Given the description of an element on the screen output the (x, y) to click on. 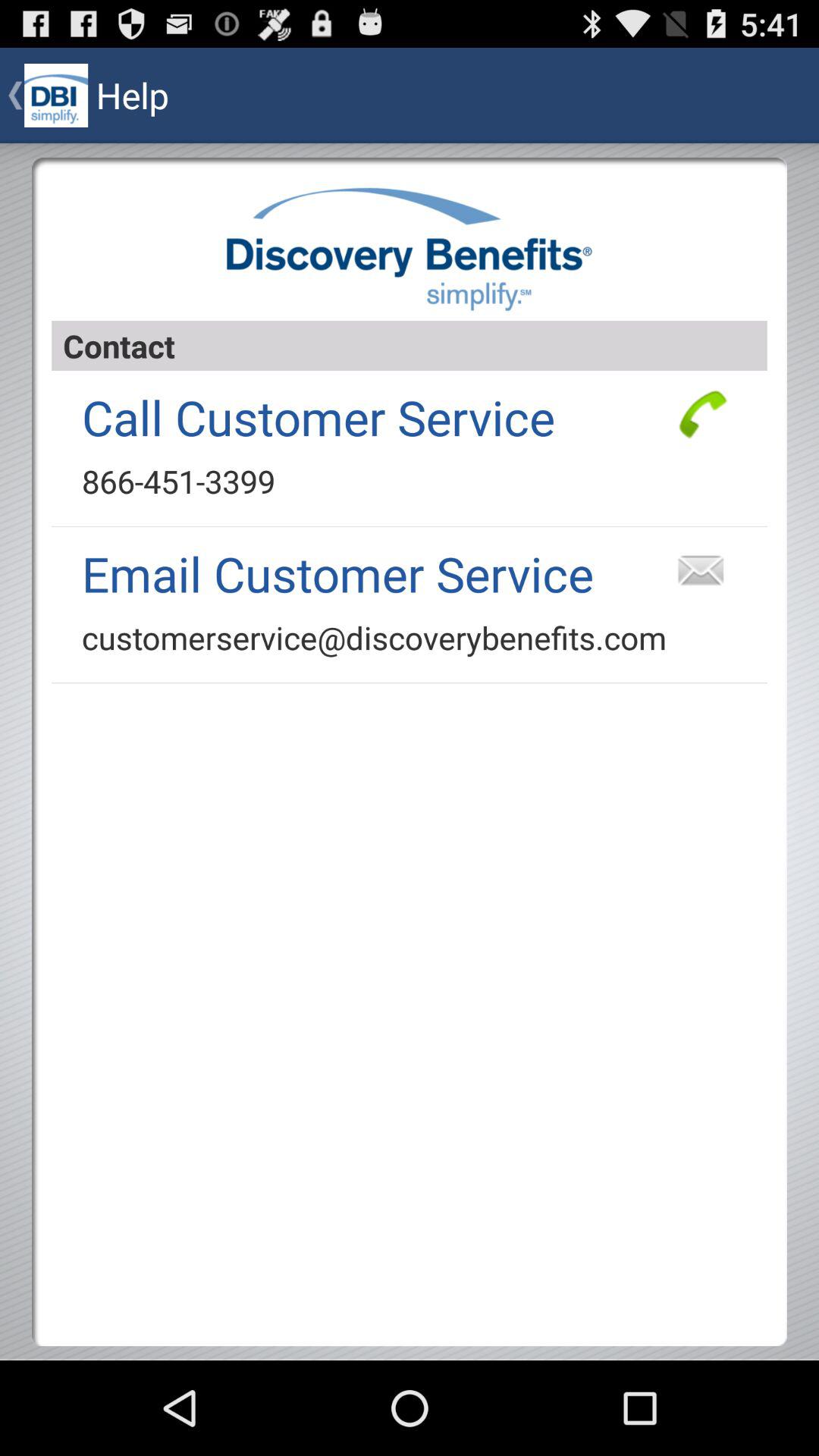
choose the customerservice@discoverybenefits.com icon (373, 637)
